Given the description of an element on the screen output the (x, y) to click on. 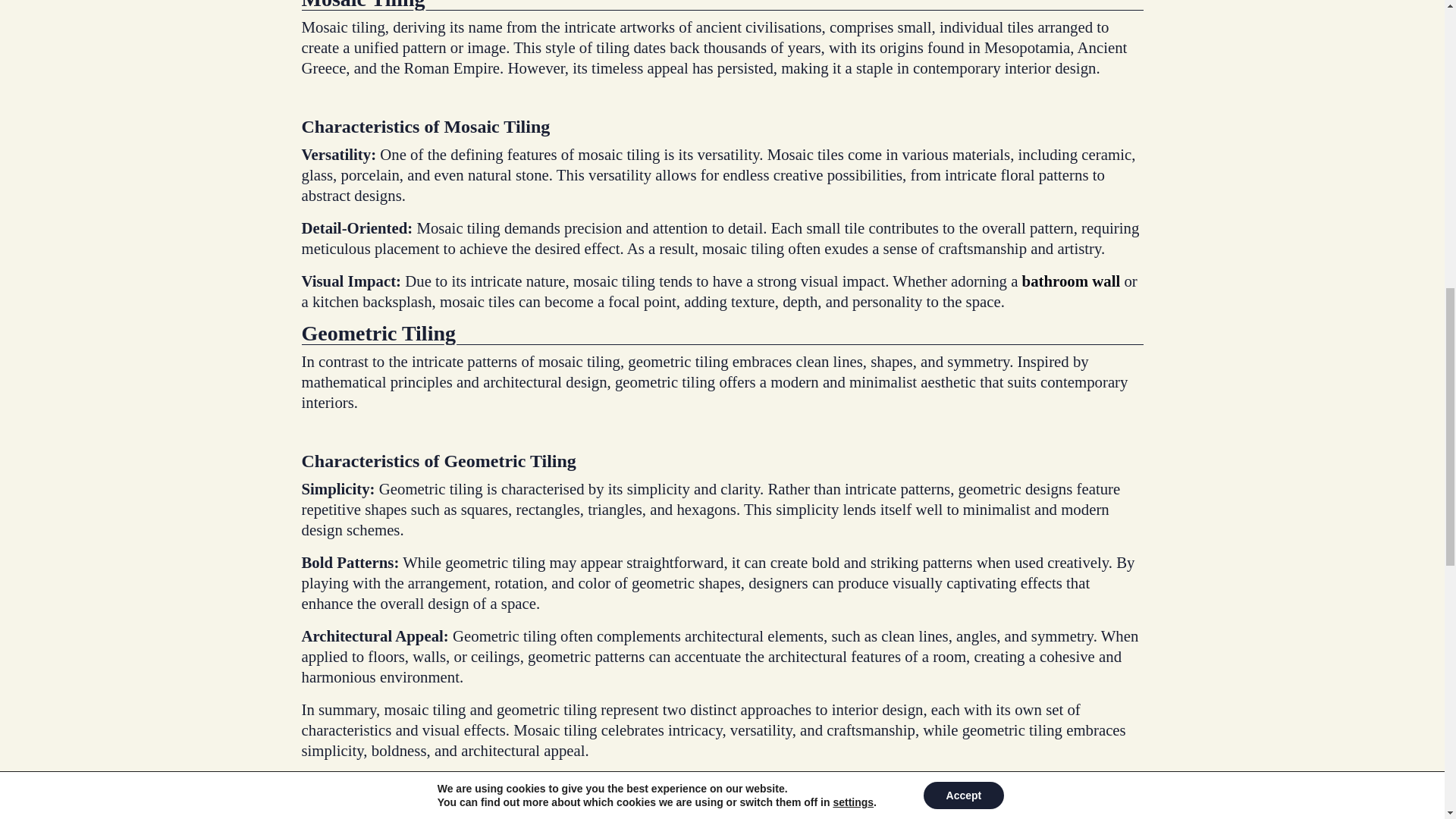
bathroom wall (1071, 280)
